Given the description of an element on the screen output the (x, y) to click on. 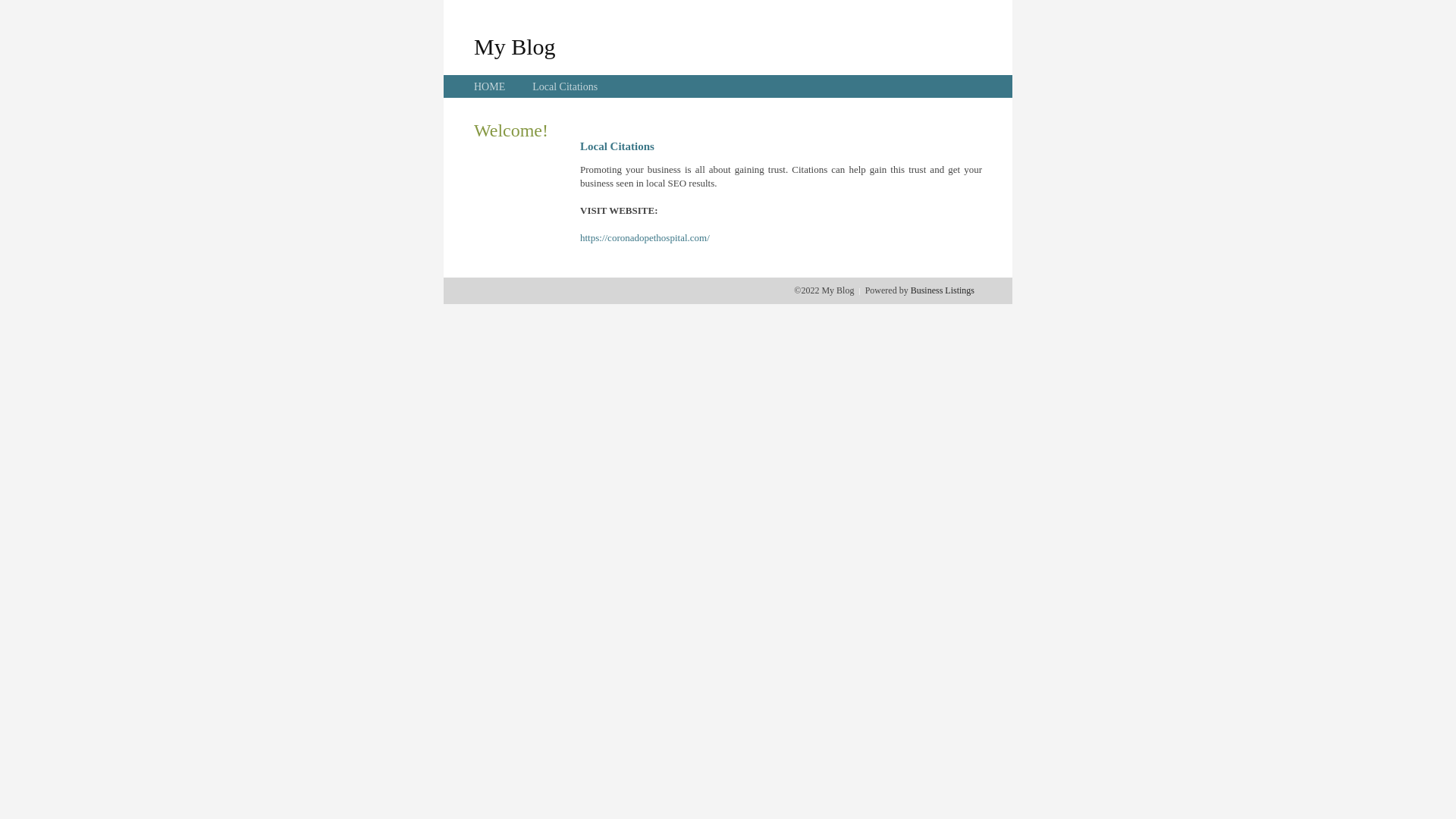
Local Citations Element type: text (564, 86)
Business Listings Element type: text (942, 290)
My Blog Element type: text (514, 46)
HOME Element type: text (489, 86)
https://coronadopethospital.com/ Element type: text (644, 237)
